Given the description of an element on the screen output the (x, y) to click on. 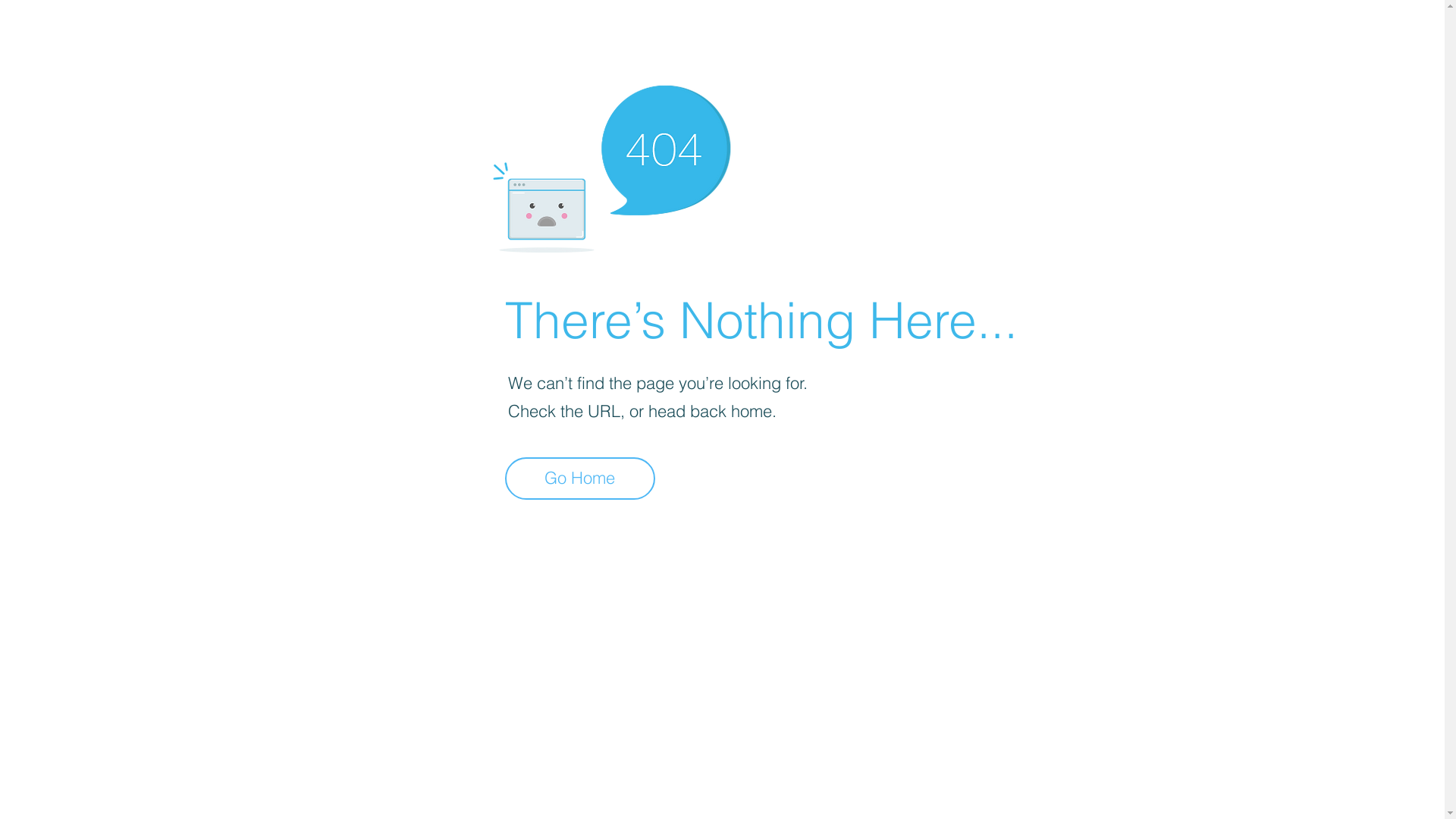
Go Home Element type: text (580, 478)
404-icon_2.png Element type: hover (610, 164)
